Given the description of an element on the screen output the (x, y) to click on. 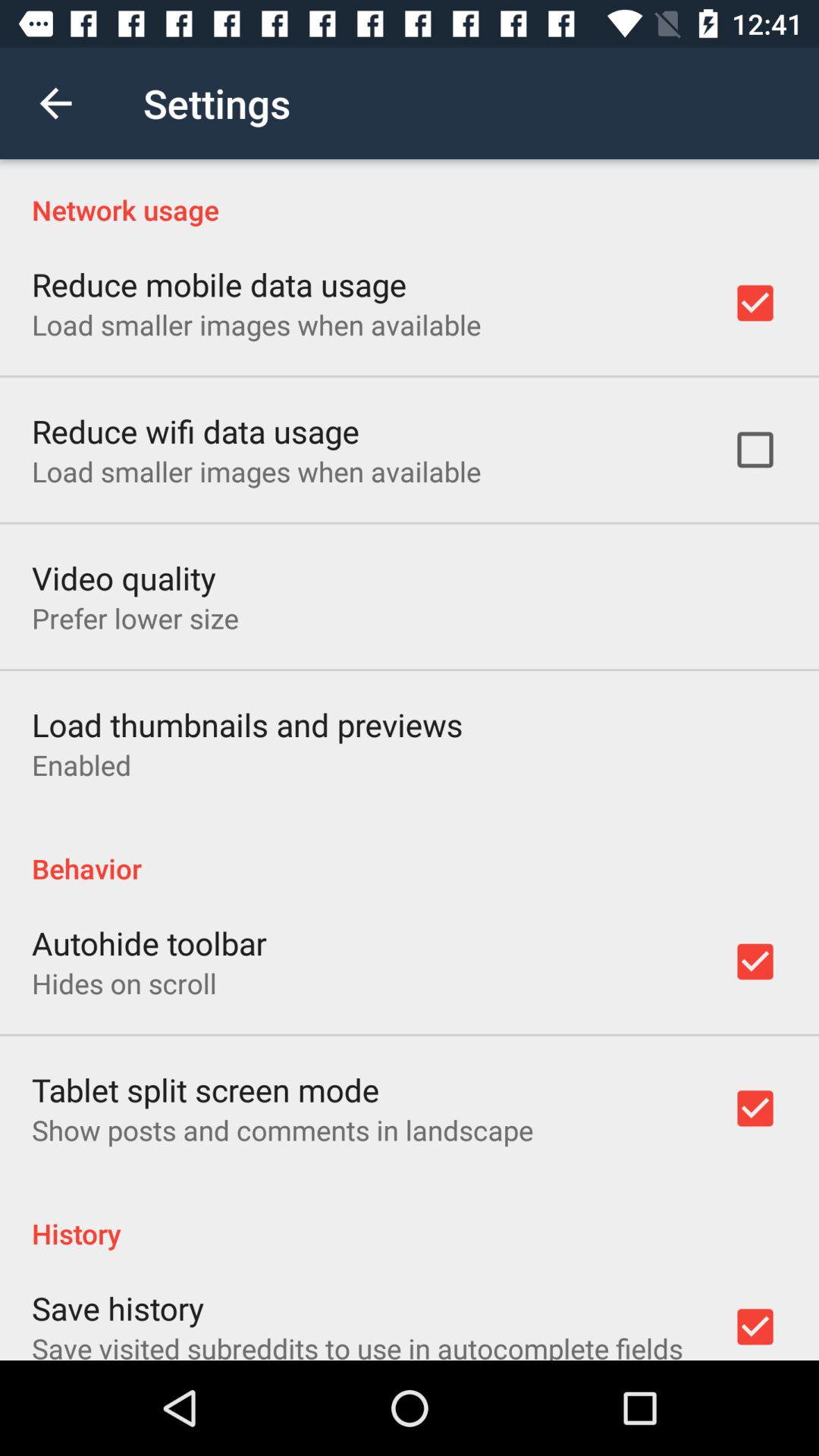
launch the load thumbnails and icon (246, 724)
